Given the description of an element on the screen output the (x, y) to click on. 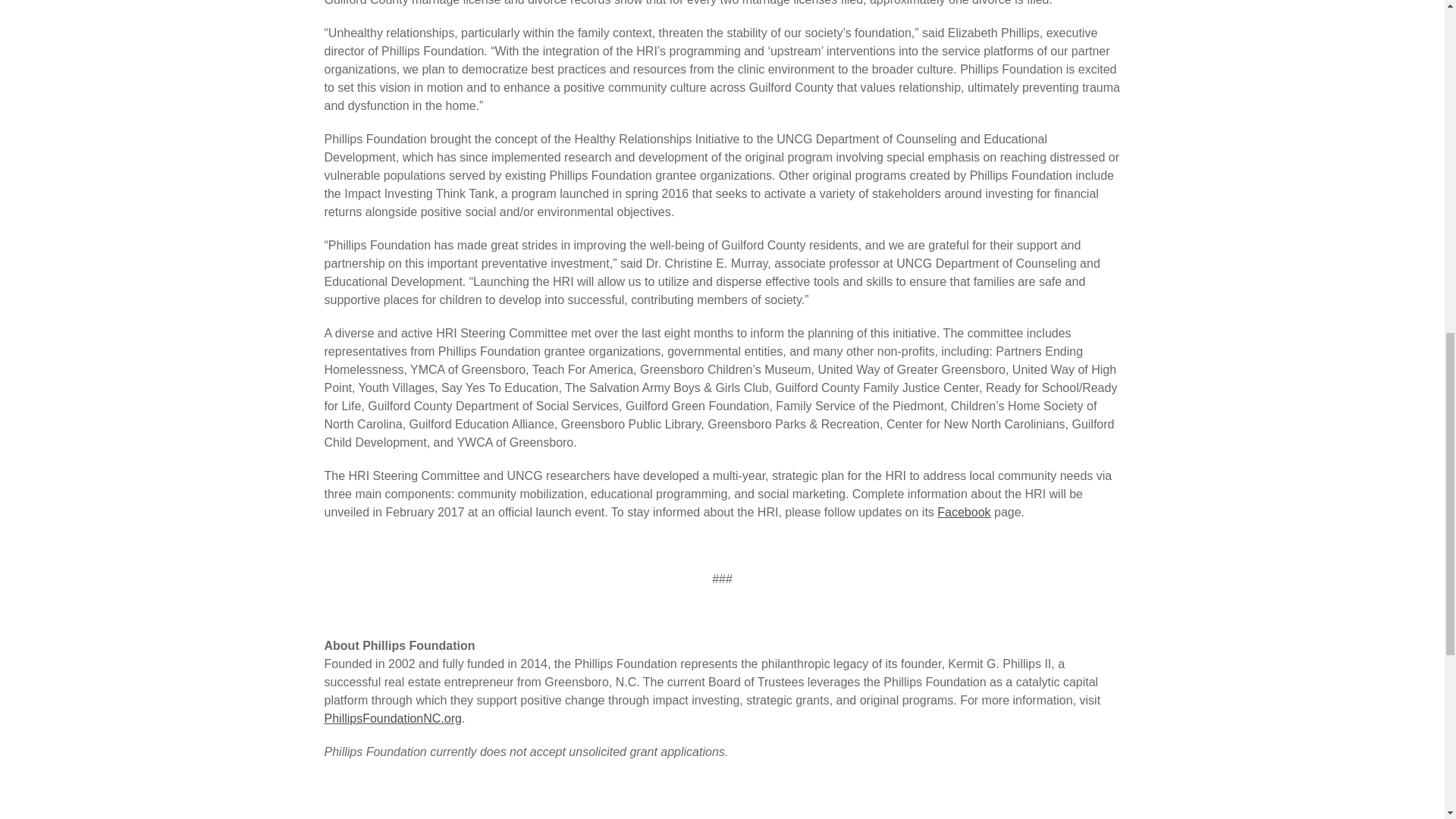
PhillipsFoundationNC.org (392, 717)
Facebook (963, 512)
